Given the description of an element on the screen output the (x, y) to click on. 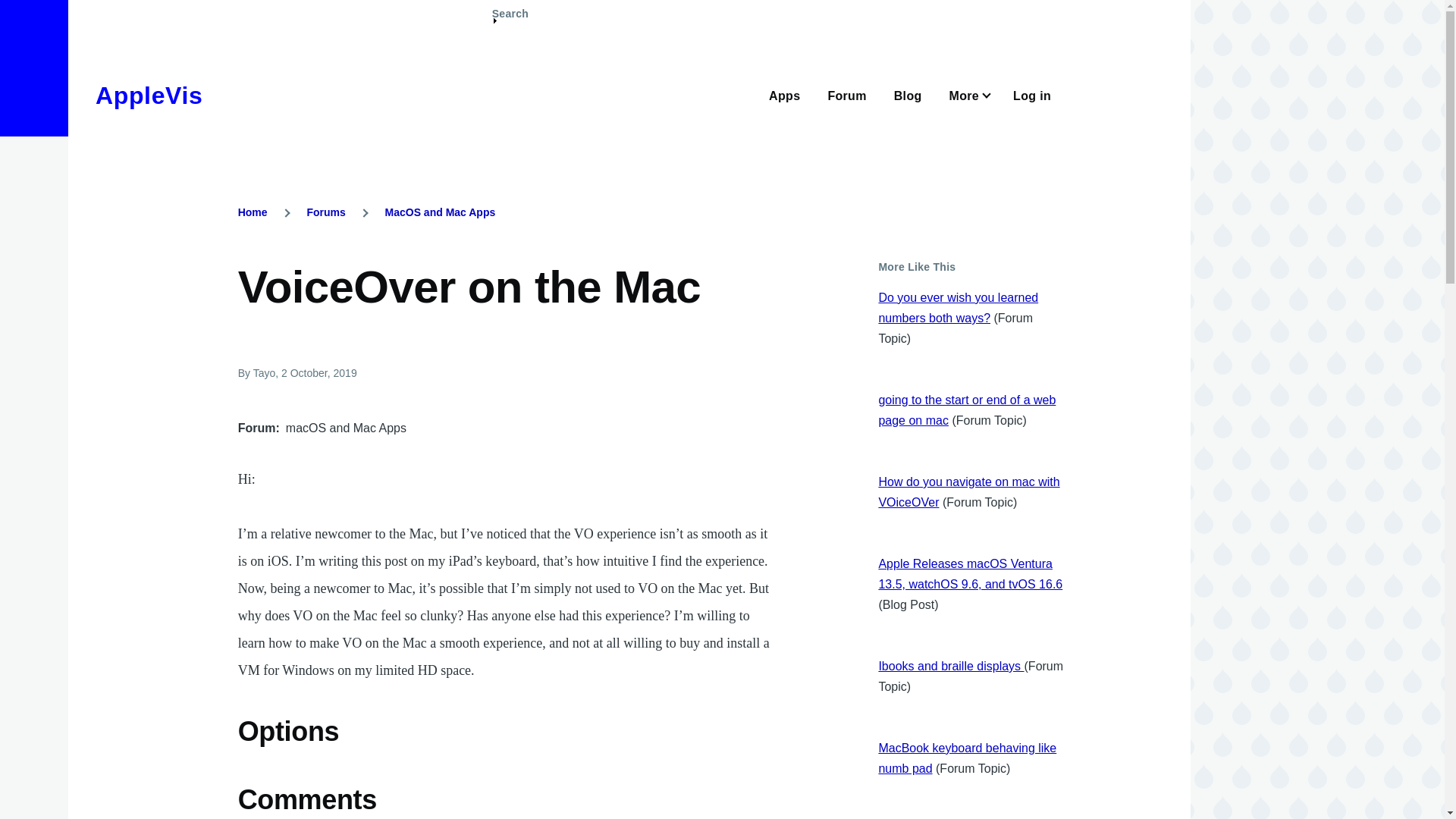
going to the start or end of a web page on mac (966, 409)
MacBook keyboard behaving like numb pad (967, 758)
Forums (325, 212)
MacOS and Mac Apps (440, 212)
How do you navigate on mac with VOiceOVer (968, 491)
Ibooks and braille displays (950, 666)
Do you ever wish you learned numbers both ways? (957, 307)
AppleVis (149, 94)
Home (252, 212)
